Given the description of an element on the screen output the (x, y) to click on. 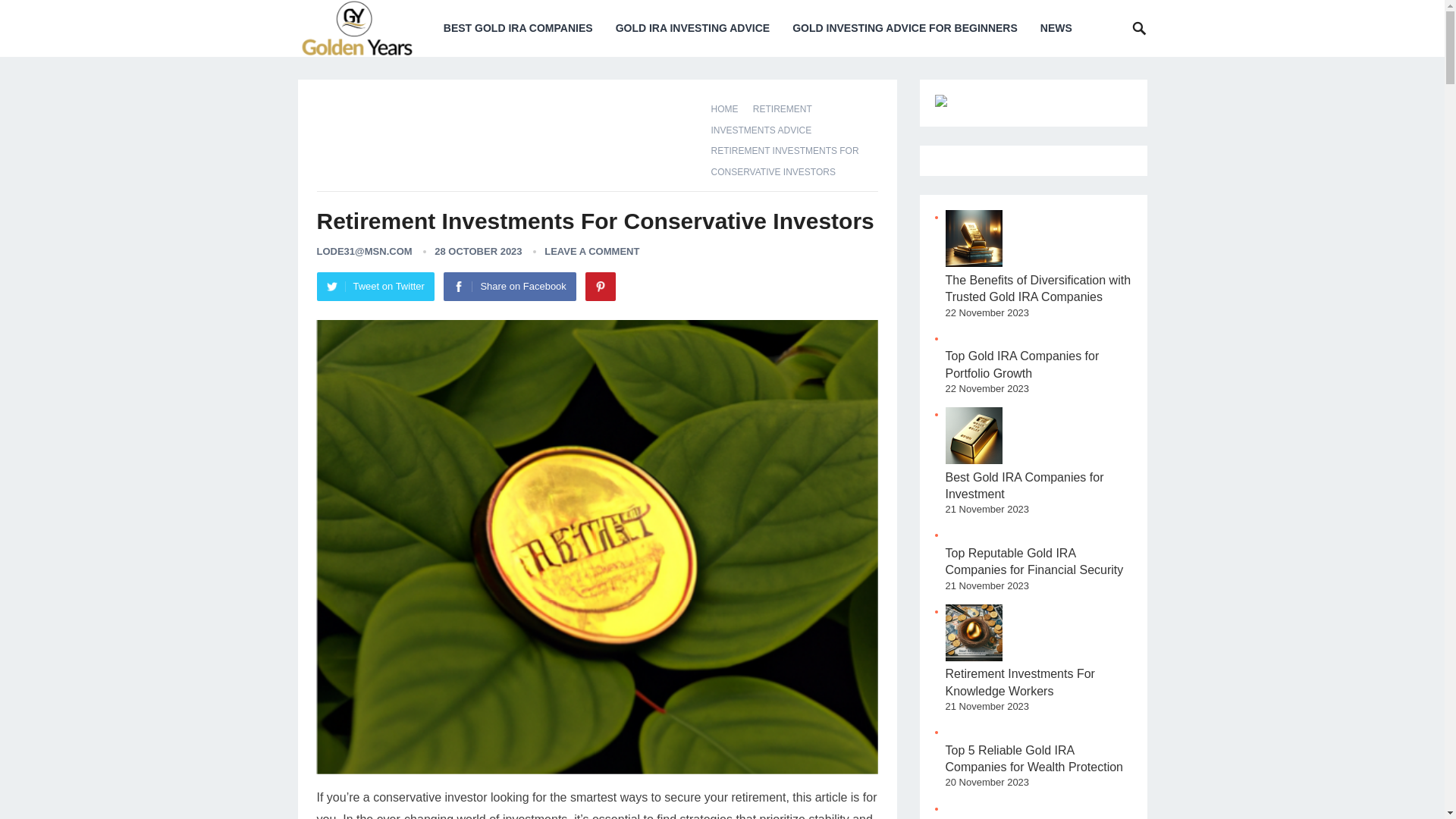
RETIREMENT INVESTMENTS ADVICE (766, 119)
GOLD IRA INVESTING ADVICE (692, 28)
GOLD INVESTING ADVICE FOR BEGINNERS (904, 28)
BEST GOLD IRA COMPANIES (518, 28)
HOME (730, 109)
Share on Facebook (509, 286)
LEAVE A COMMENT (591, 251)
NEWS (1056, 28)
Pinterest (600, 286)
Tweet on Twitter (375, 286)
View all posts in Retirement Investments Advice (766, 119)
